Given the description of an element on the screen output the (x, y) to click on. 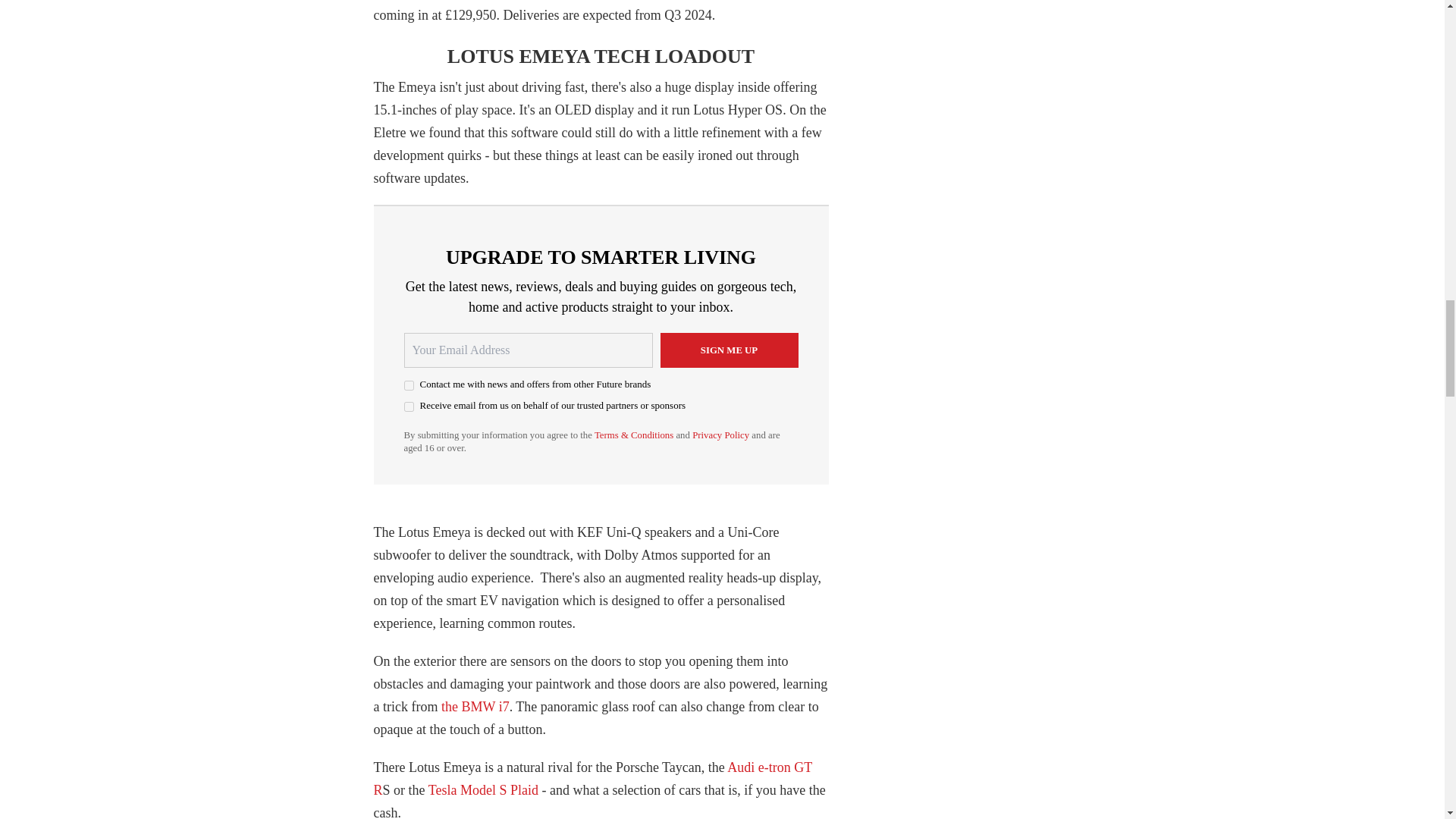
on (408, 385)
on (408, 406)
Sign me up (728, 349)
